Given the description of an element on the screen output the (x, y) to click on. 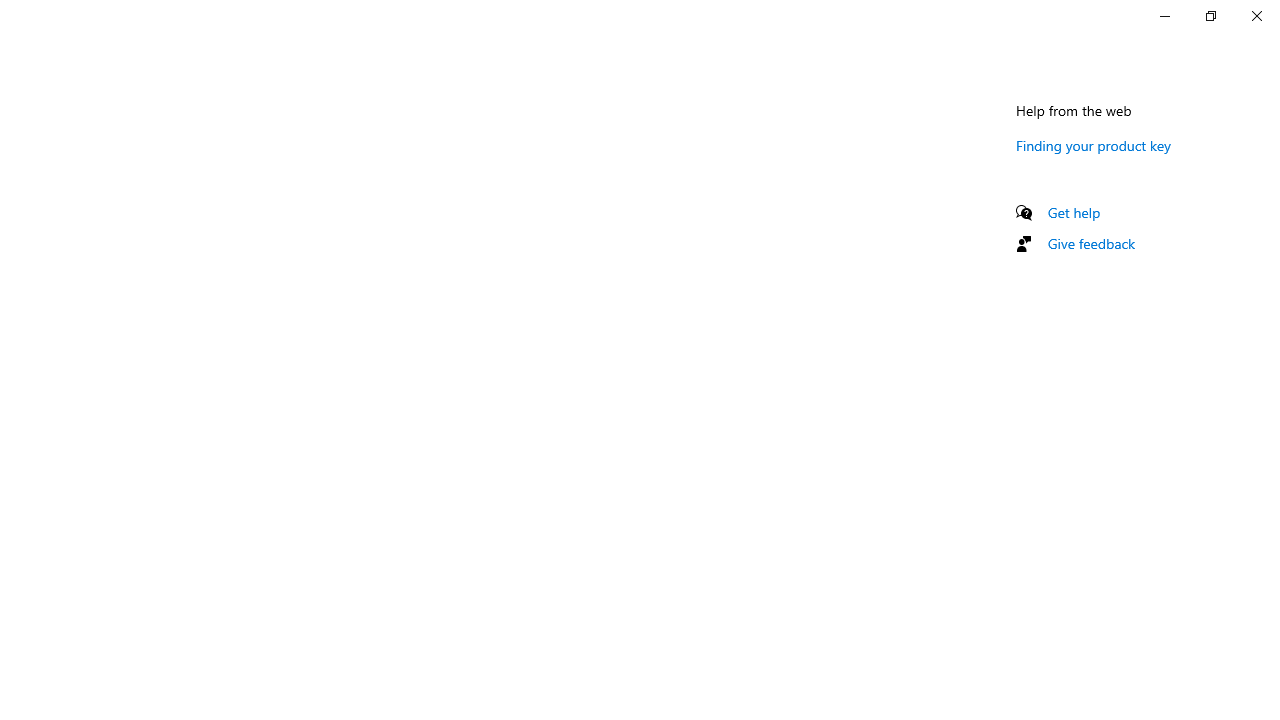
Minimize Settings (1164, 15)
Finding your product key (1093, 145)
Give feedback (1091, 243)
Restore Settings (1210, 15)
Get help (1074, 212)
Close Settings (1256, 15)
